Given the description of an element on the screen output the (x, y) to click on. 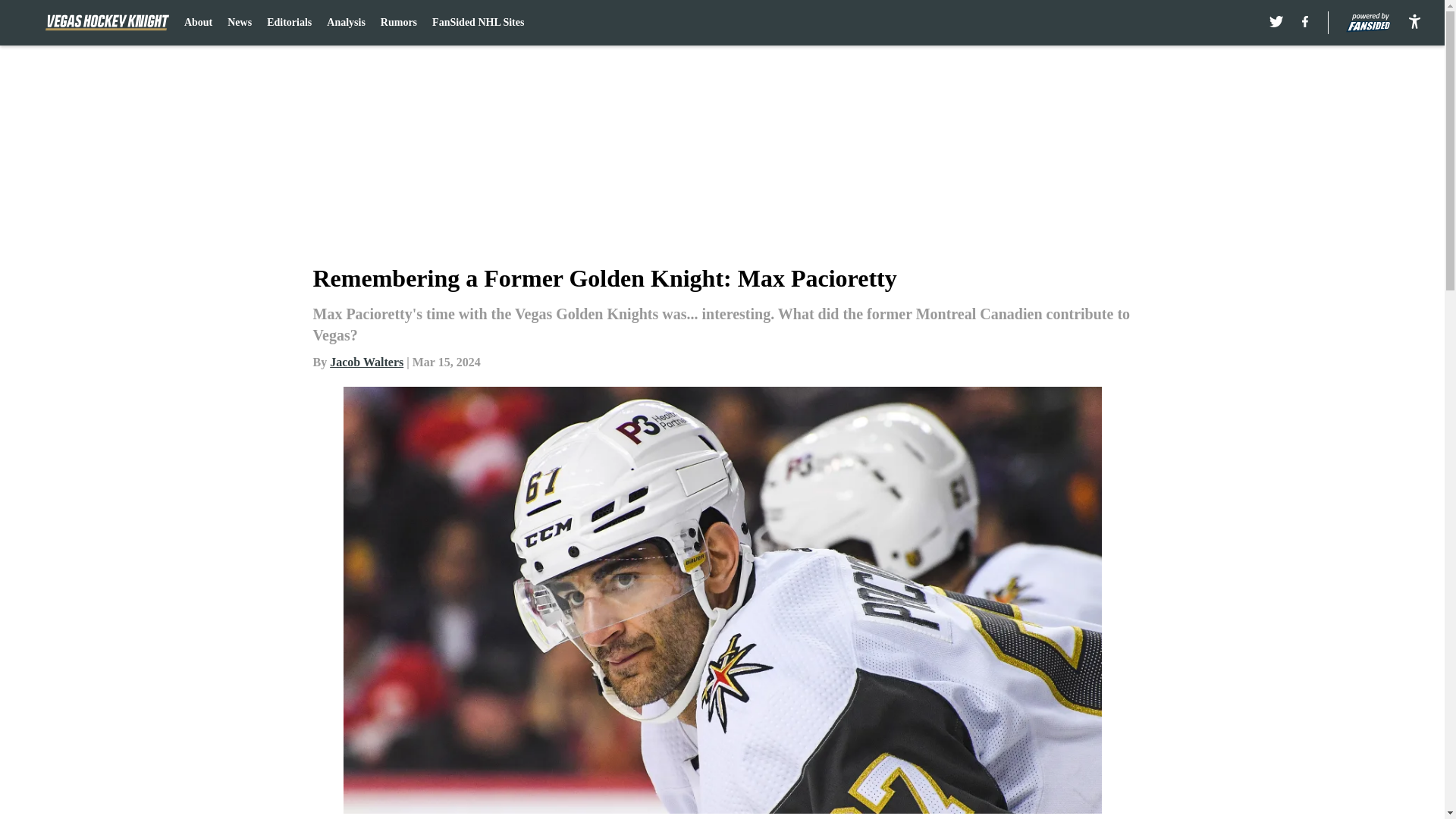
Editorials (288, 22)
Jacob Walters (366, 361)
About (198, 22)
Analysis (345, 22)
Rumors (398, 22)
FanSided NHL Sites (478, 22)
News (239, 22)
